Given the description of an element on the screen output the (x, y) to click on. 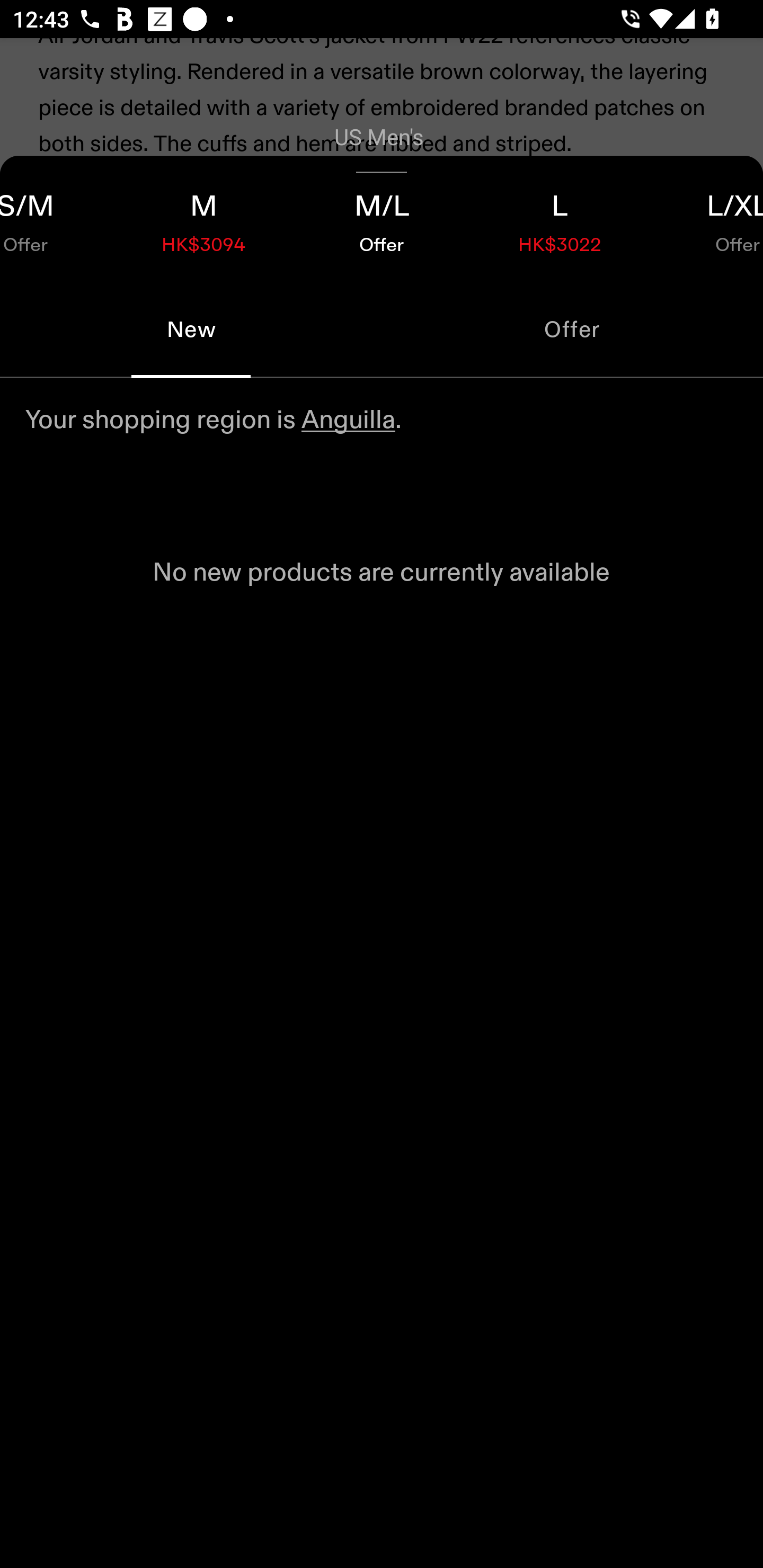
S/M Offer (57, 218)
M HK$3094 (203, 218)
M/L Offer (381, 218)
L HK$3022 (559, 218)
L/XL Offer (705, 218)
Offer (572, 329)
Sell (152, 361)
